Given the description of an element on the screen output the (x, y) to click on. 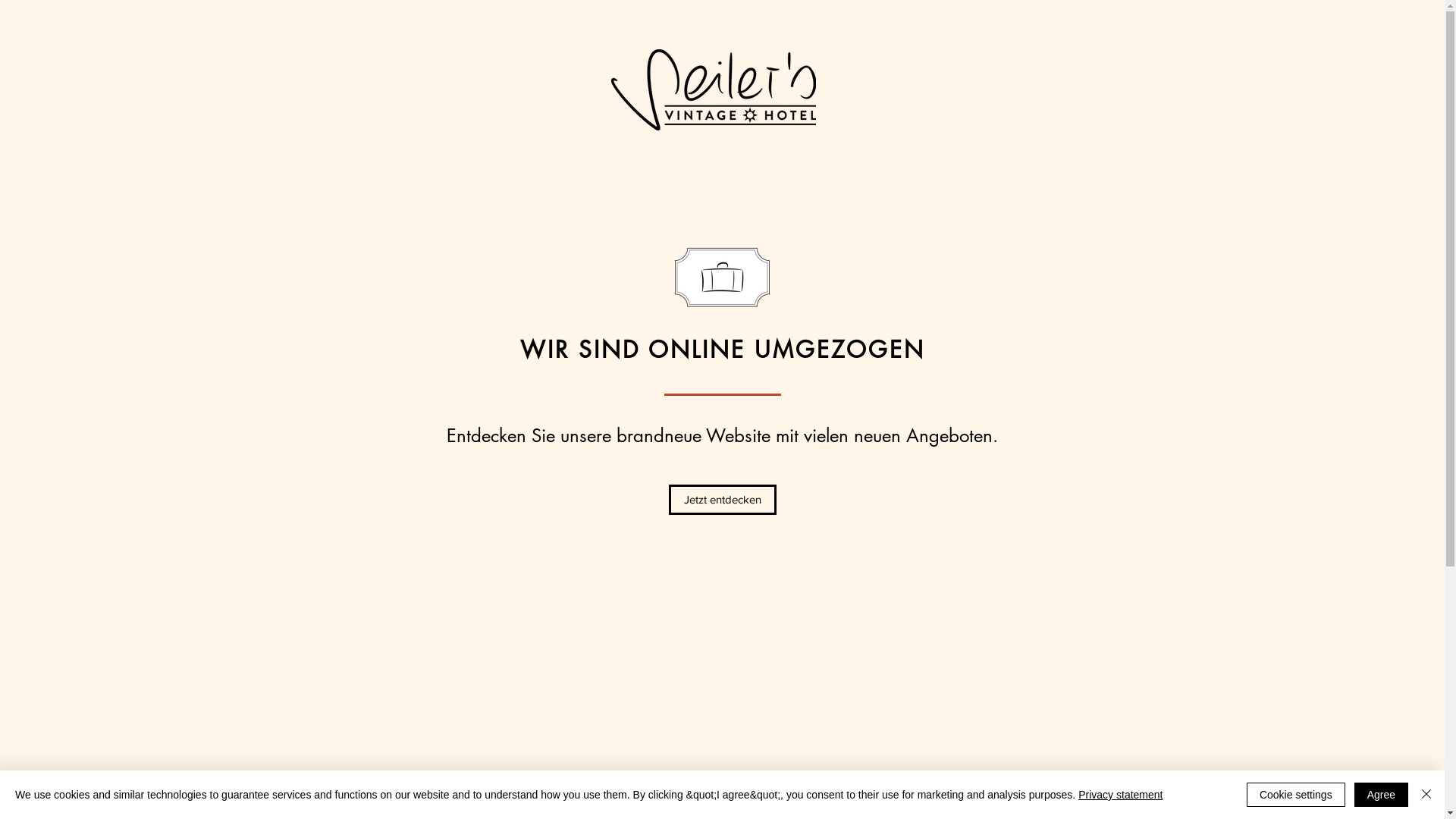
Cookie settings Element type: text (1295, 794)
Jetzt entdecken Element type: text (722, 499)
Privacy statement Element type: text (1120, 794)
Seilers-Logo-schwarz.png Element type: hover (713, 89)
Agree Element type: text (1381, 794)
